Given the description of an element on the screen output the (x, y) to click on. 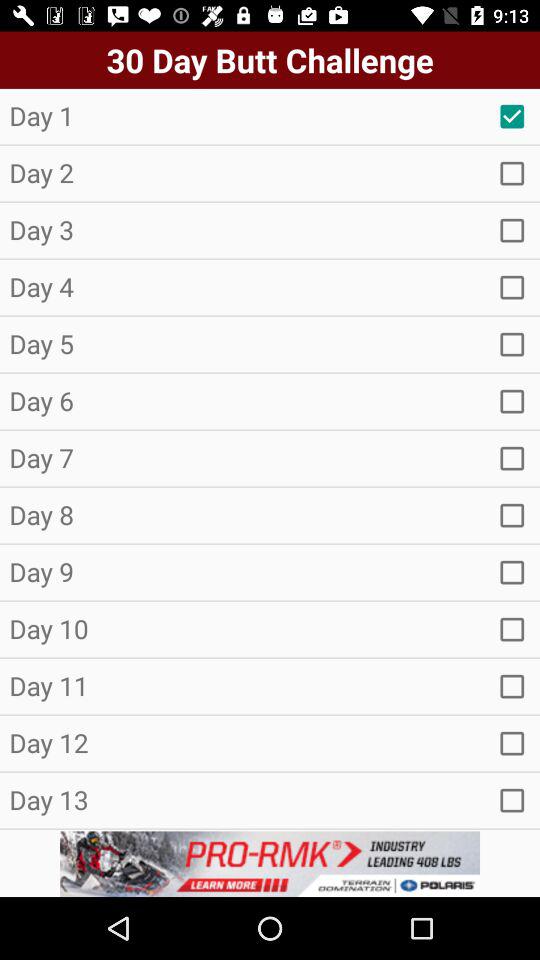
tick on day 9 (512, 572)
